Given the description of an element on the screen output the (x, y) to click on. 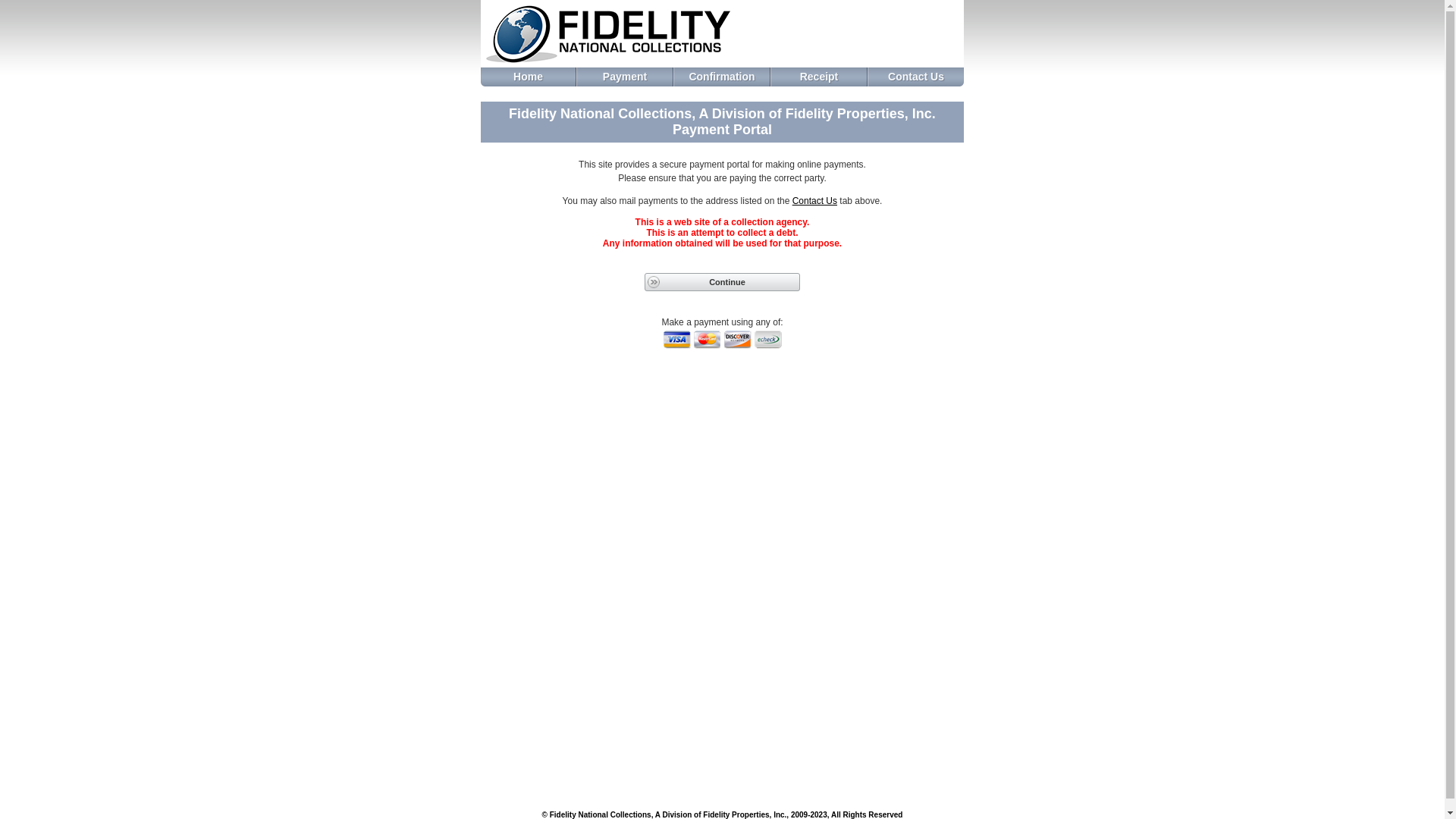
Home Element type: text (527, 76)
Contact Us Element type: text (915, 76)
Confirmation Element type: text (721, 76)
Payment Element type: text (624, 76)
Contact Us Element type: text (814, 200)
Receipt Element type: text (818, 76)
Continue Element type: text (722, 282)
